Given the description of an element on the screen output the (x, y) to click on. 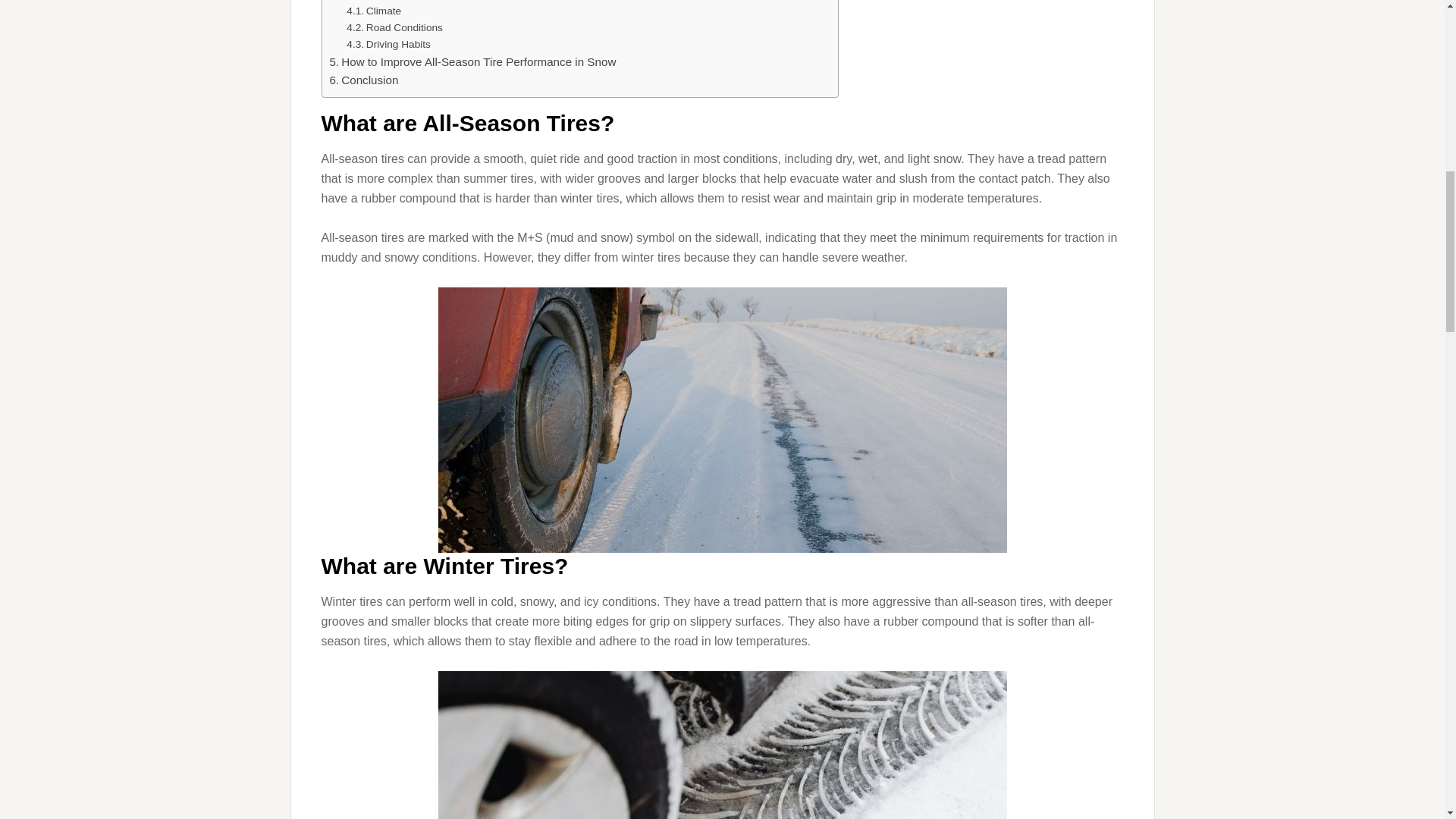
Climate (373, 11)
When to Use All-Season Tires in Snow (433, 1)
How to Improve All-Season Tire Performance in Snow (472, 62)
Driving Habits (388, 44)
Climate (373, 11)
Road Conditions (394, 27)
How to Improve All-Season Tire Performance in Snow (472, 62)
Road Conditions (394, 27)
Conclusion (363, 80)
When to Use All-Season Tires in Snow (433, 1)
